Given the description of an element on the screen output the (x, y) to click on. 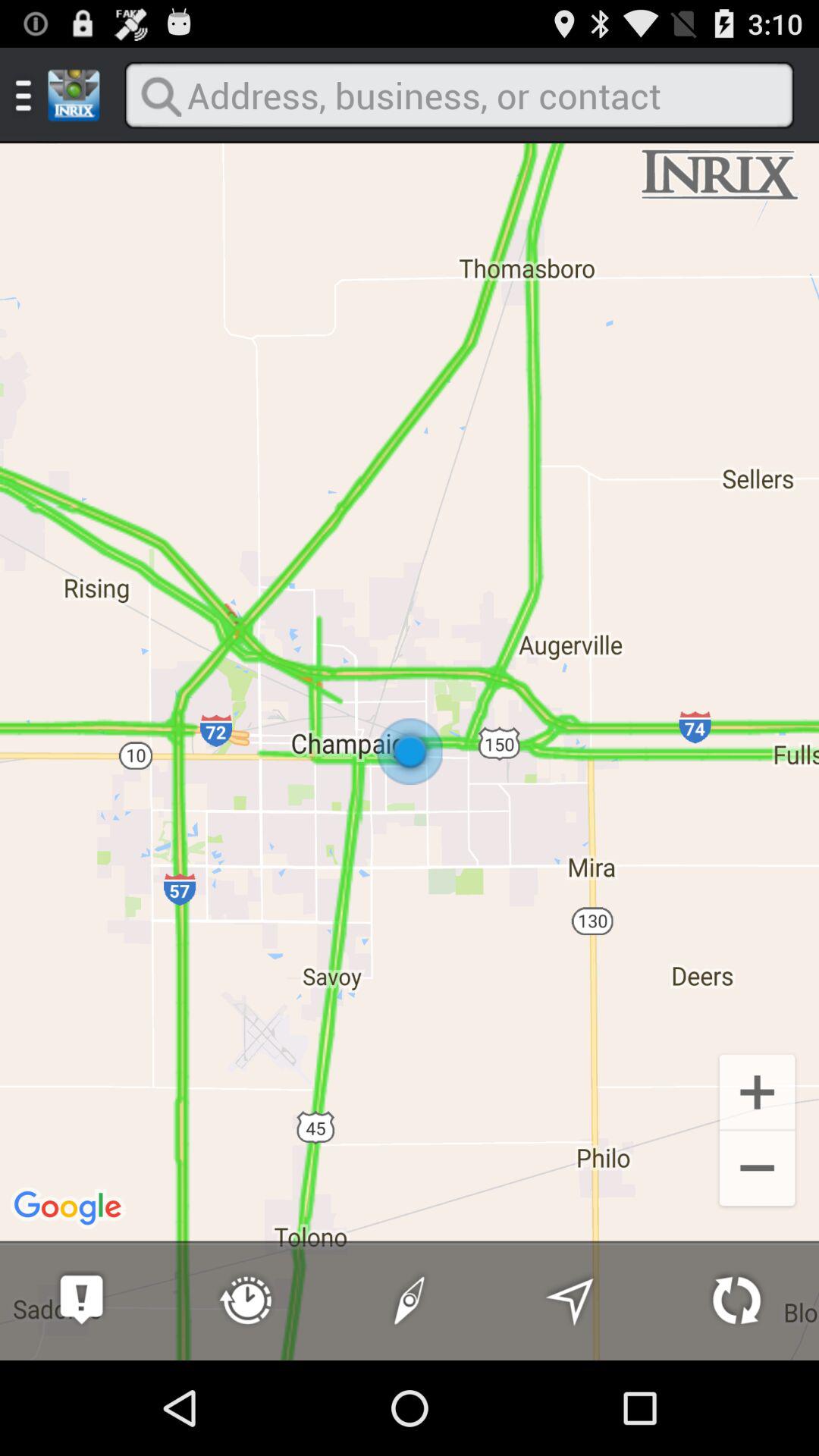
enter search (459, 94)
